Given the description of an element on the screen output the (x, y) to click on. 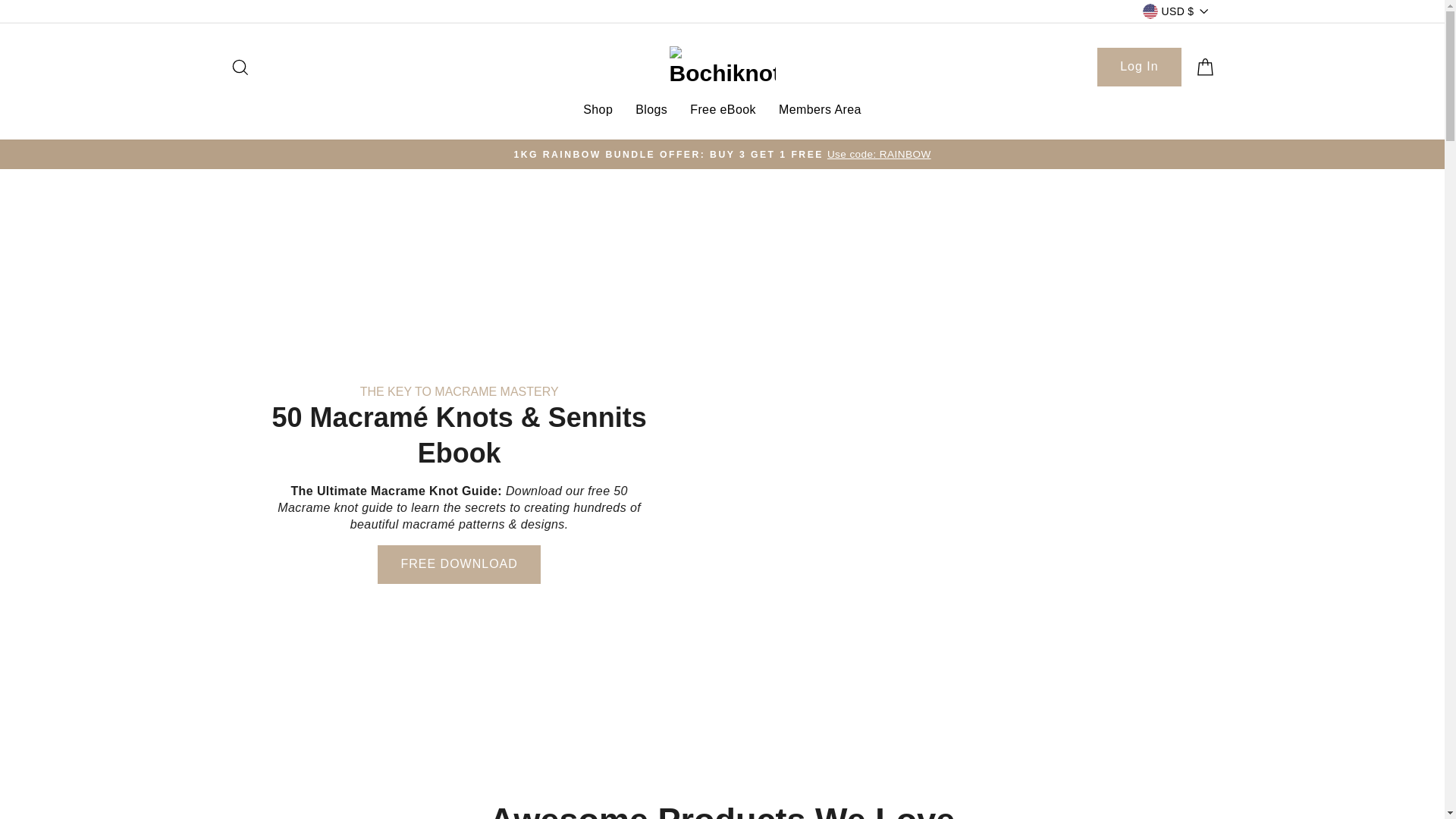
Search (239, 66)
Cart (1138, 66)
